Given the description of an element on the screen output the (x, y) to click on. 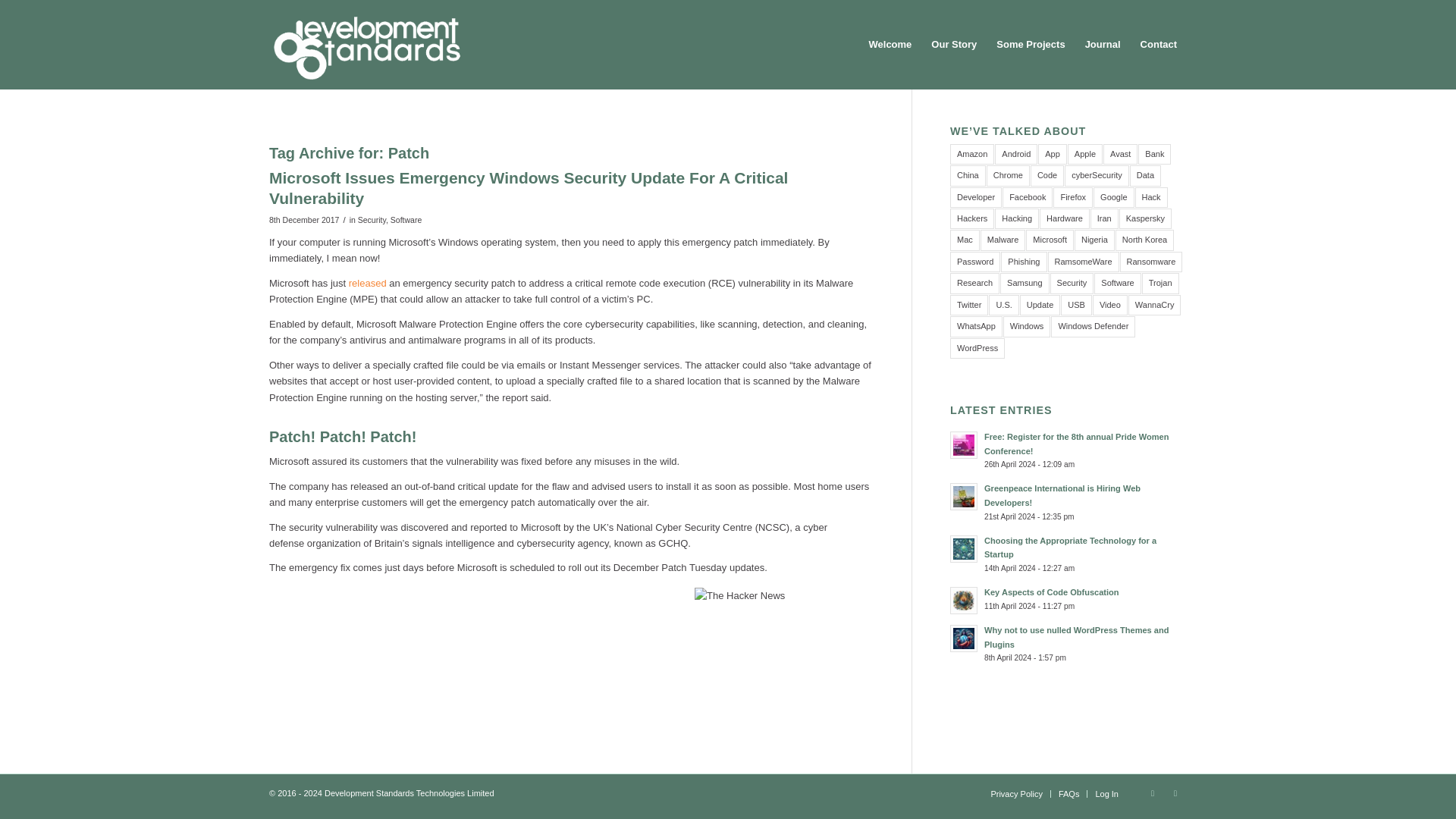
Avast (1120, 154)
Hack (1151, 197)
Some Projects (1030, 44)
Security (371, 219)
App (1052, 154)
Hardware (1064, 218)
Bank (1154, 154)
Read: Key Aspects of Code Obfuscation (963, 600)
North Korea (1144, 240)
Iran (1104, 218)
Read: Choosing the Appropriate Technology for a Startup (963, 548)
Twitter (1152, 793)
Amazon (972, 154)
Hacking (1016, 218)
Read: Why not to use nulled WordPress Themes and Plugins (963, 637)
